Given the description of an element on the screen output the (x, y) to click on. 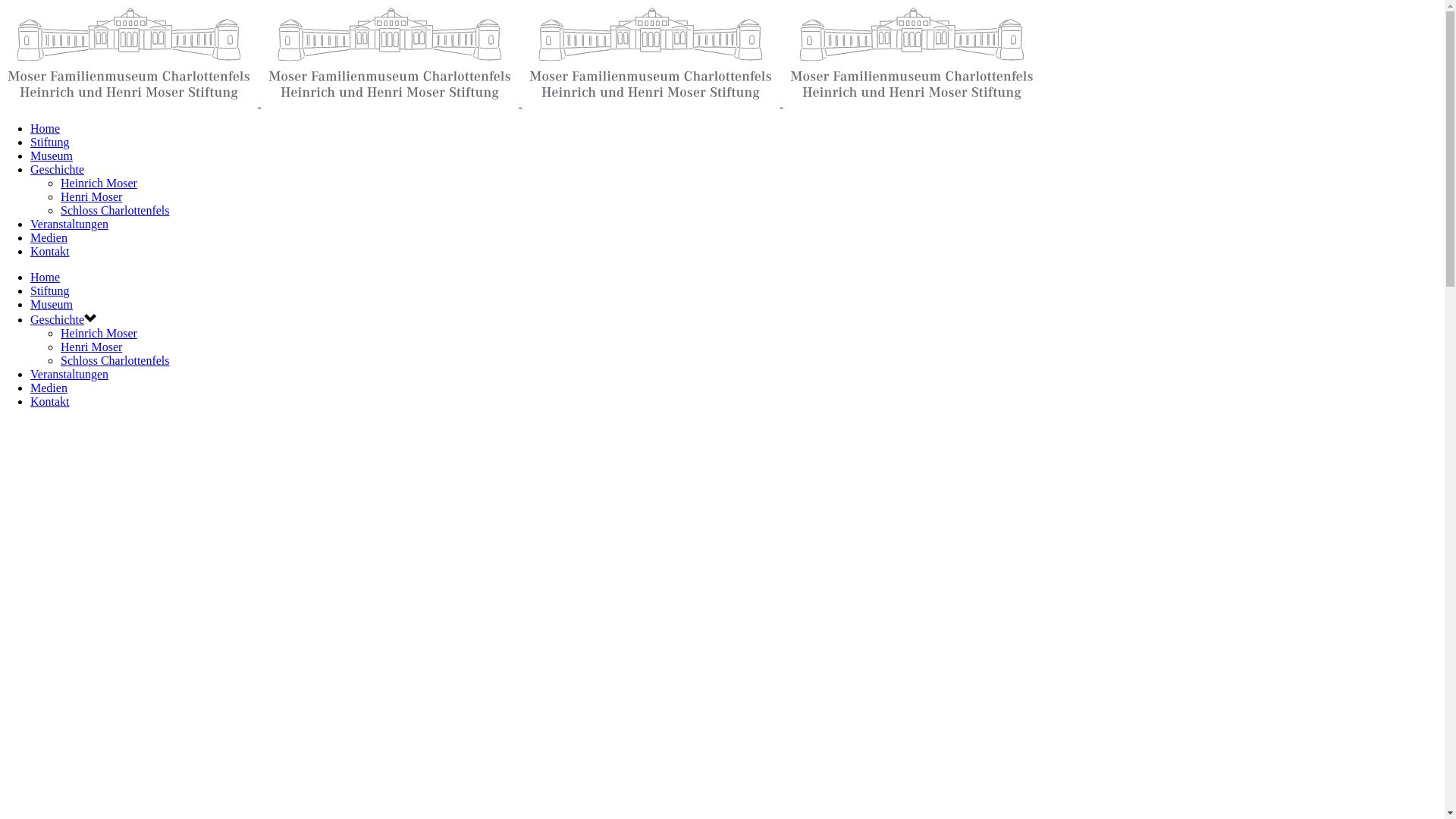
Moser Familienmuseum Charlottenfels Element type: hover (520, 102)
Museum Element type: text (51, 304)
Henri Moser Element type: text (91, 196)
Kontakt Element type: text (49, 401)
Stiftung Element type: text (49, 141)
Henri Moser Element type: text (91, 346)
Stiftung Element type: text (49, 290)
Veranstaltungen Element type: text (69, 373)
Medien Element type: text (48, 387)
Geschichte Element type: text (57, 169)
Medien Element type: text (48, 237)
Home Element type: text (44, 276)
Schloss Charlottenfels Element type: text (114, 360)
Veranstaltungen Element type: text (69, 223)
Geschichte Element type: text (57, 319)
Heinrich Moser Element type: text (98, 332)
Heinrich Moser Element type: text (98, 182)
Museum Element type: text (51, 155)
Kontakt Element type: text (49, 250)
Schloss Charlottenfels Element type: text (114, 209)
Home Element type: text (44, 128)
